Given the description of an element on the screen output the (x, y) to click on. 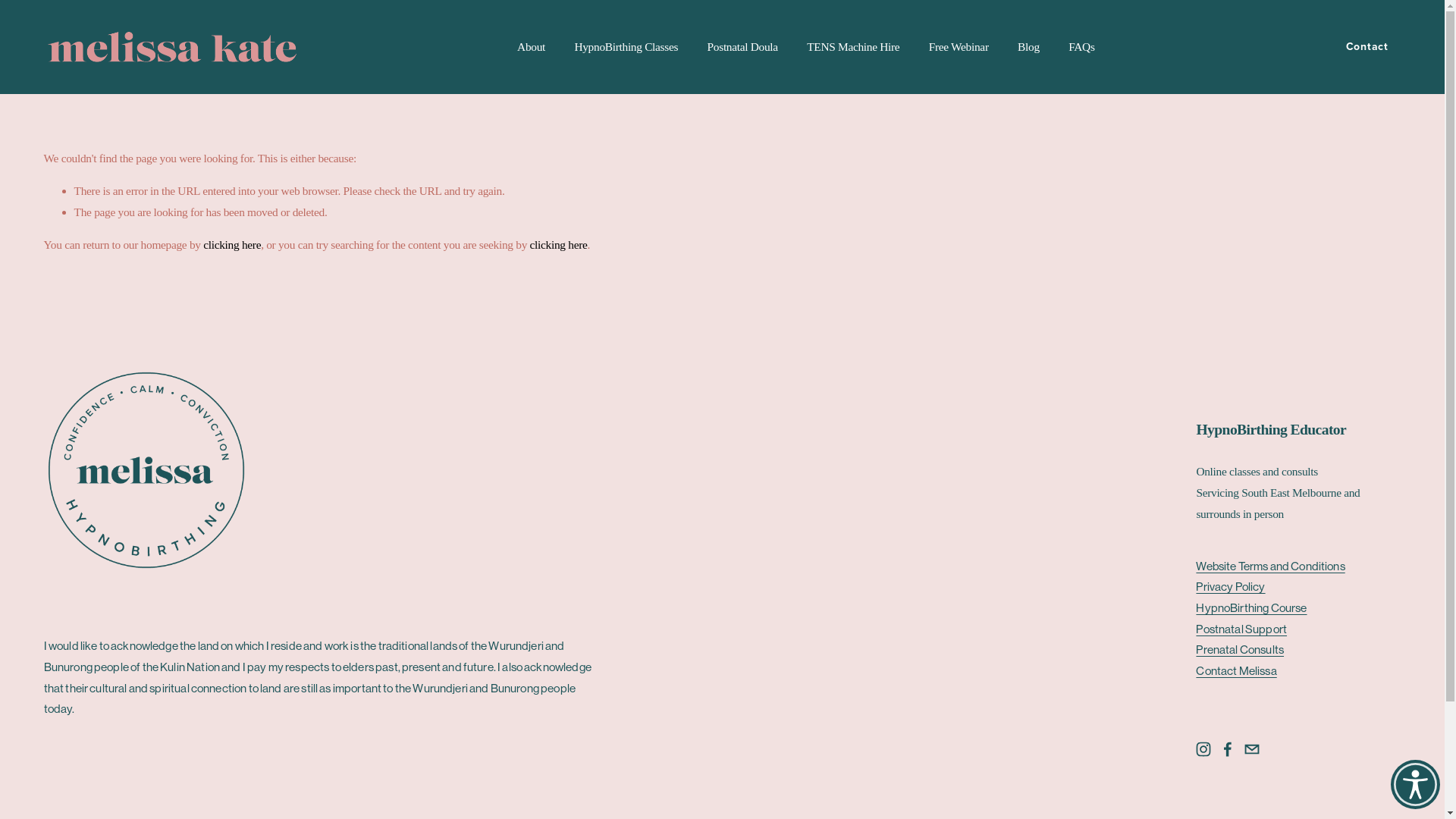
Contact Element type: text (1367, 47)
HypnoBirthing Classes Element type: text (625, 46)
Prenatal Consults Element type: text (1239, 649)
About Element type: text (531, 46)
Contact Melissa Element type: text (1235, 670)
clicking here Element type: text (558, 244)
Postnatal Doula Element type: text (742, 46)
Postnatal Support Element type: text (1240, 628)
FAQs Element type: text (1081, 46)
TENS Machine Hire Element type: text (852, 46)
Privacy Policy Element type: text (1229, 586)
Free Webinar Element type: text (958, 46)
Blog Element type: text (1028, 46)
HypnoBirthing Course Element type: text (1250, 607)
clicking here Element type: text (231, 244)
Website Terms and Conditions Element type: text (1269, 565)
